Given the description of an element on the screen output the (x, y) to click on. 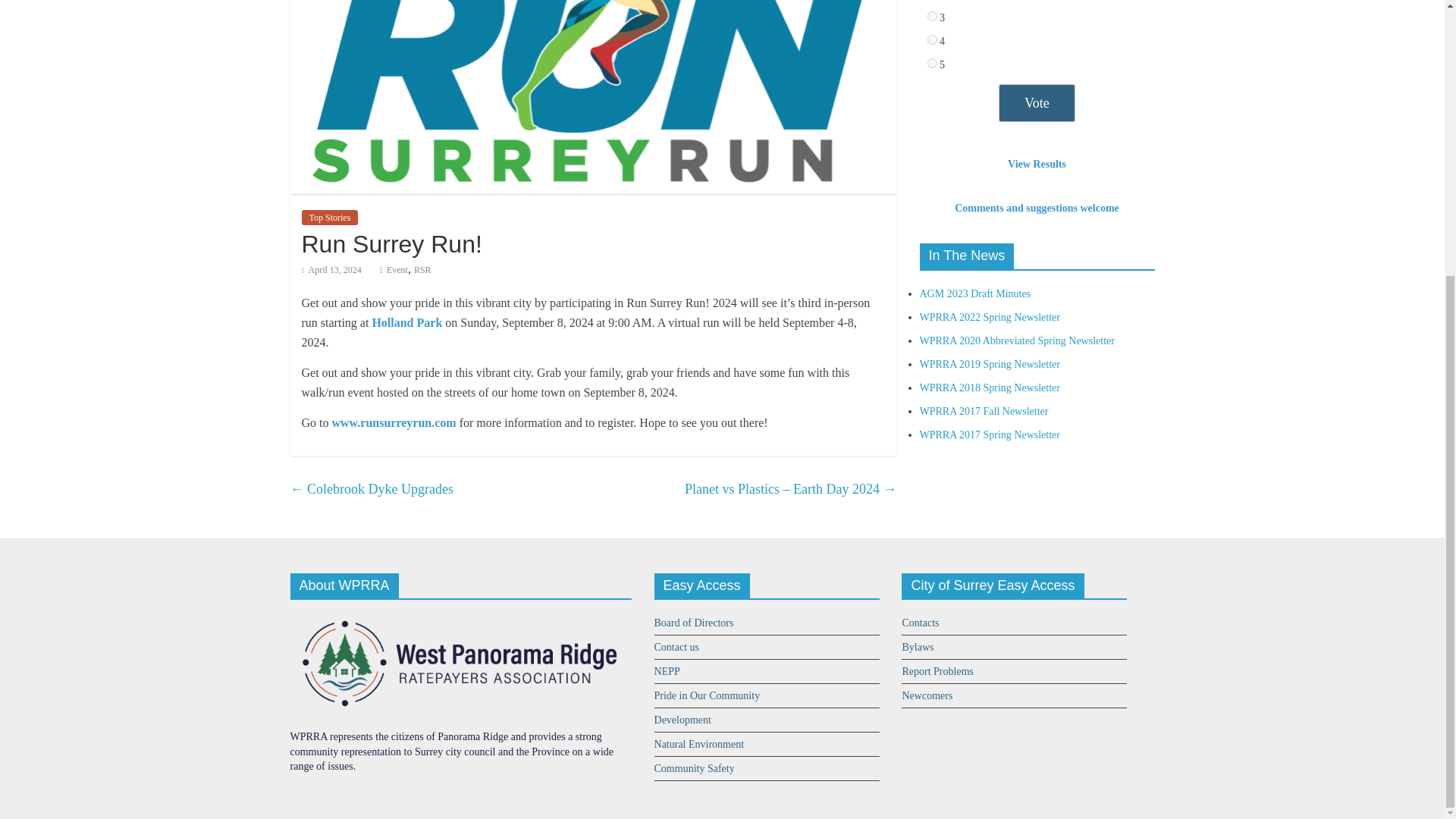
Bylaws (917, 646)
33 (931, 62)
31 (931, 16)
Contact City of Surrey (920, 622)
Pride in Our Community (706, 695)
Board of Directors (693, 622)
   Vote    (1036, 103)
Comments and suggestions welcome (1037, 207)
NEPP (666, 671)
Natural Environment (698, 744)
1:12 pm (331, 269)
32 (931, 40)
Event (397, 269)
community safety (694, 767)
RSR (421, 269)
